Given the description of an element on the screen output the (x, y) to click on. 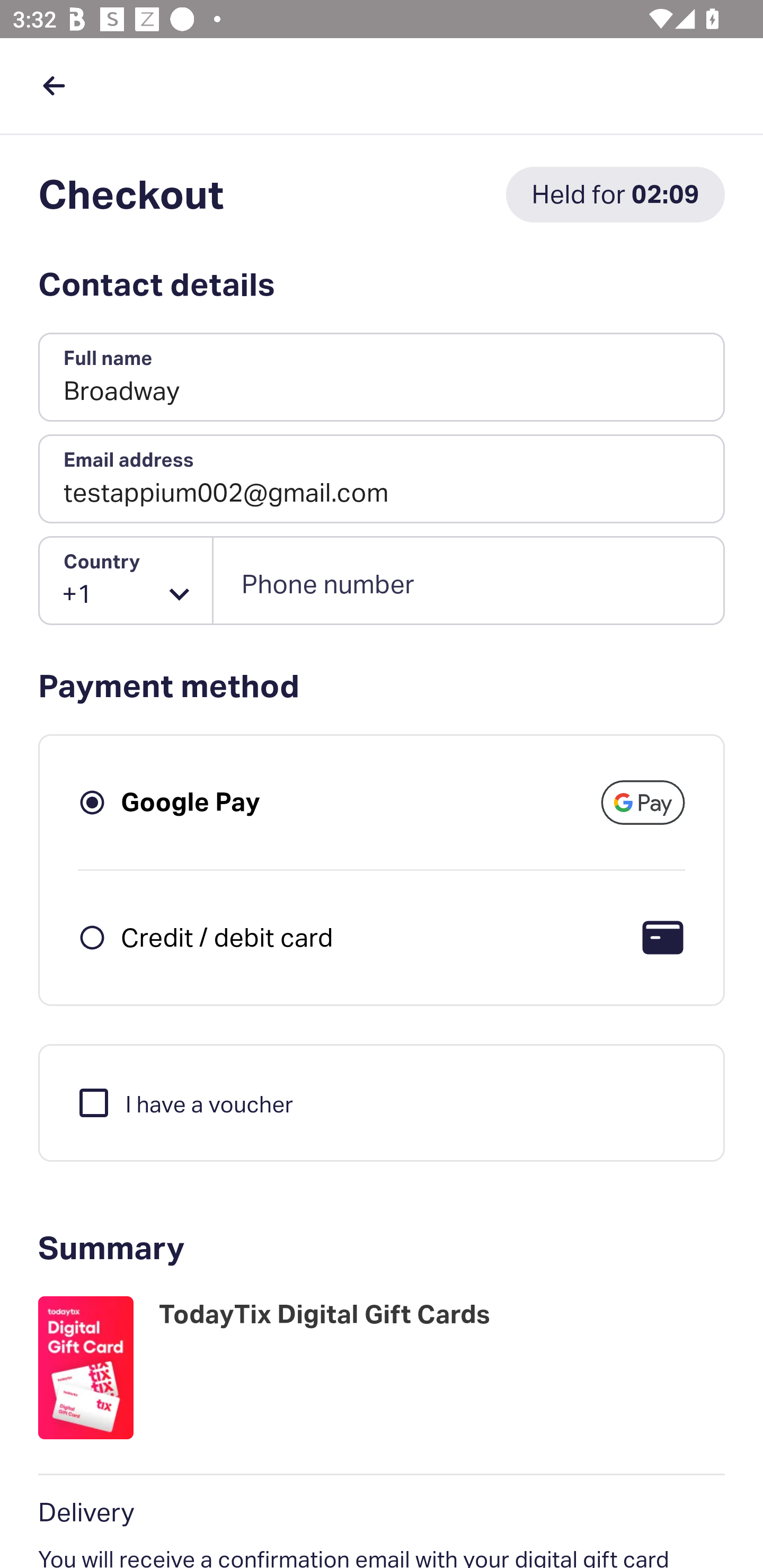
back button (53, 85)
Broadway (381, 377)
testappium002@gmail.com (381, 478)
  +1 (126, 580)
Google Pay (190, 802)
Credit / debit card (227, 936)
I have a voucher (183, 1101)
